Given the description of an element on the screen output the (x, y) to click on. 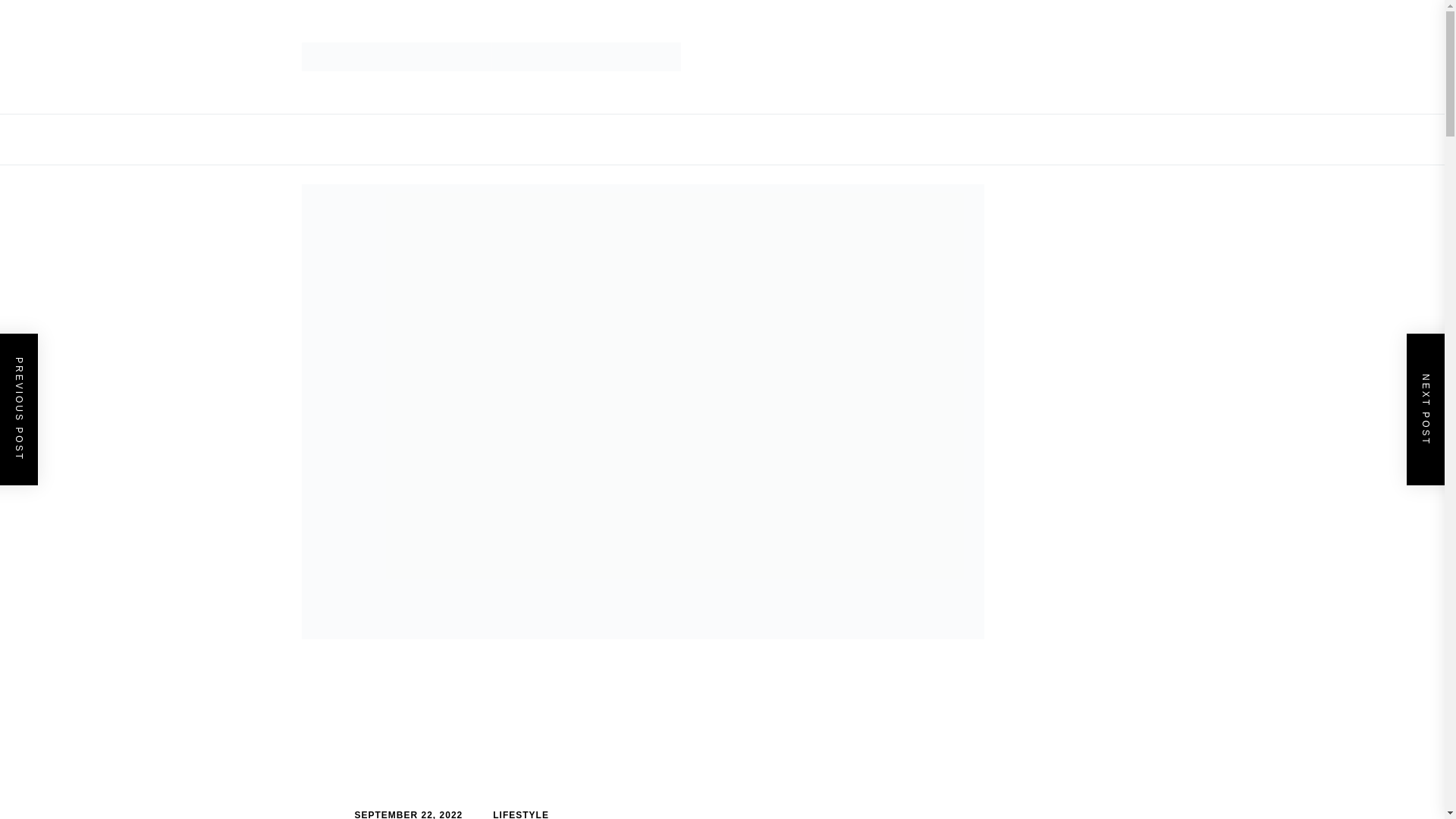
SEPTEMBER 22, 2022 (409, 814)
Business (368, 139)
Education (441, 139)
Lifestyle (612, 139)
Entertainment (529, 139)
World (843, 139)
LIFESTYLE (520, 814)
Press Release (764, 139)
National (679, 139)
